Given the description of an element on the screen output the (x, y) to click on. 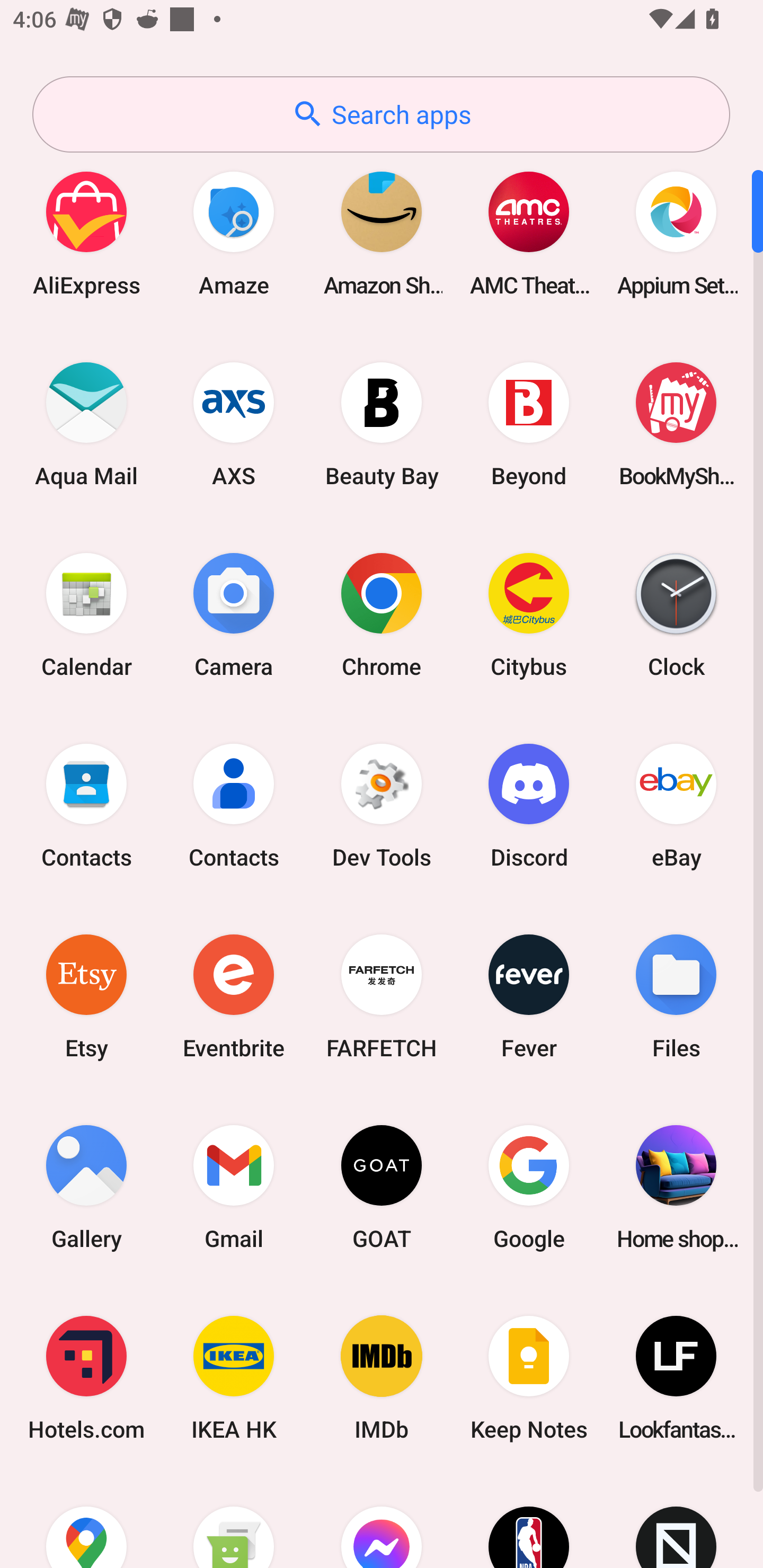
  Search apps (381, 114)
AliExpress (86, 233)
Amaze (233, 233)
Amazon Shopping (381, 233)
AMC Theatres (528, 233)
Appium Settings (676, 233)
Aqua Mail (86, 424)
AXS (233, 424)
Beauty Bay (381, 424)
Beyond (528, 424)
BookMyShow (676, 424)
Calendar (86, 614)
Camera (233, 614)
Chrome (381, 614)
Citybus (528, 614)
Clock (676, 614)
Contacts (86, 805)
Contacts (233, 805)
Dev Tools (381, 805)
Discord (528, 805)
eBay (676, 805)
Etsy (86, 996)
Eventbrite (233, 996)
FARFETCH (381, 996)
Fever (528, 996)
Files (676, 996)
Gallery (86, 1186)
Gmail (233, 1186)
GOAT (381, 1186)
Google (528, 1186)
Home shopping (676, 1186)
Hotels.com (86, 1377)
IKEA HK (233, 1377)
IMDb (381, 1377)
Keep Notes (528, 1377)
Lookfantastic (676, 1377)
